Given the description of an element on the screen output the (x, y) to click on. 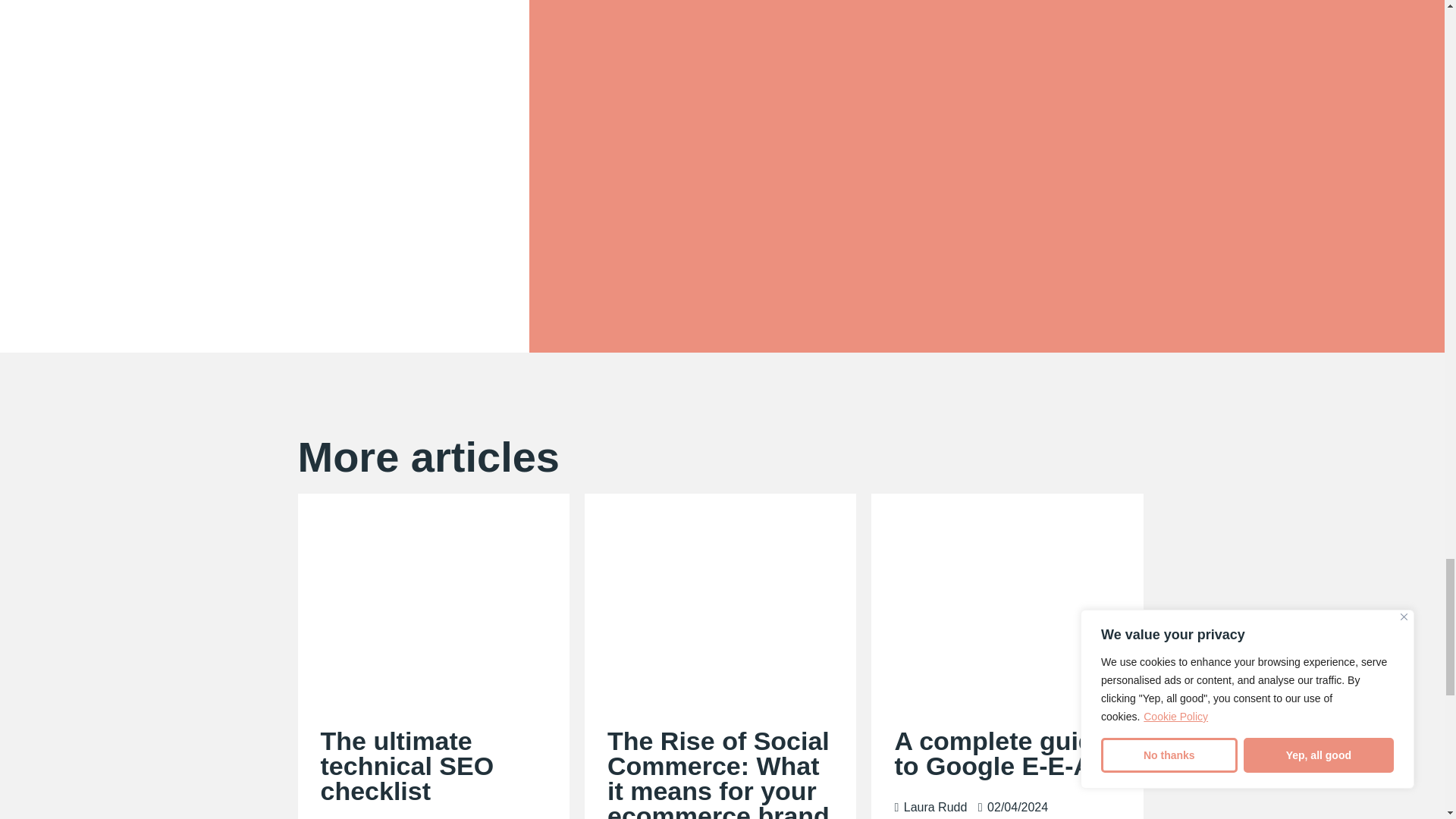
Form 0 (986, 171)
